Given the description of an element on the screen output the (x, y) to click on. 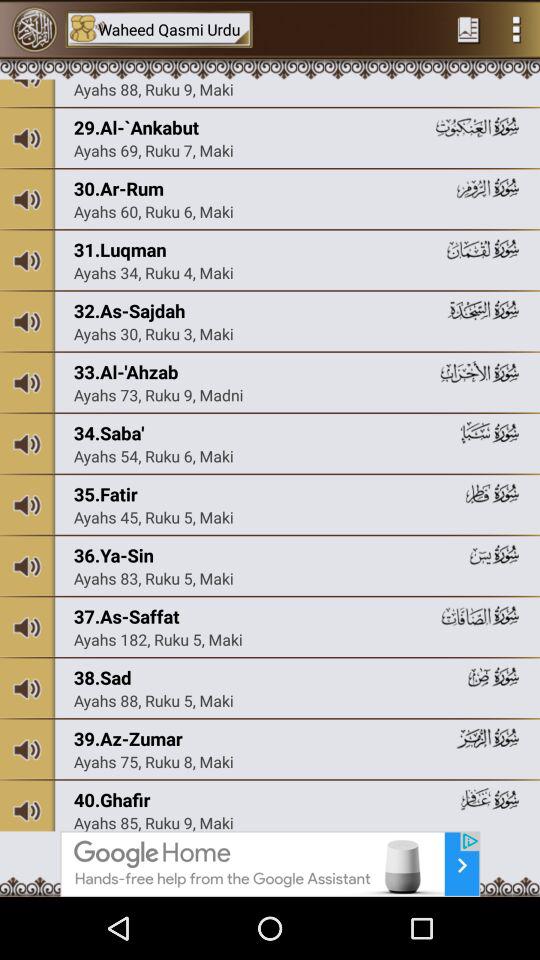
home page (468, 29)
